Given the description of an element on the screen output the (x, y) to click on. 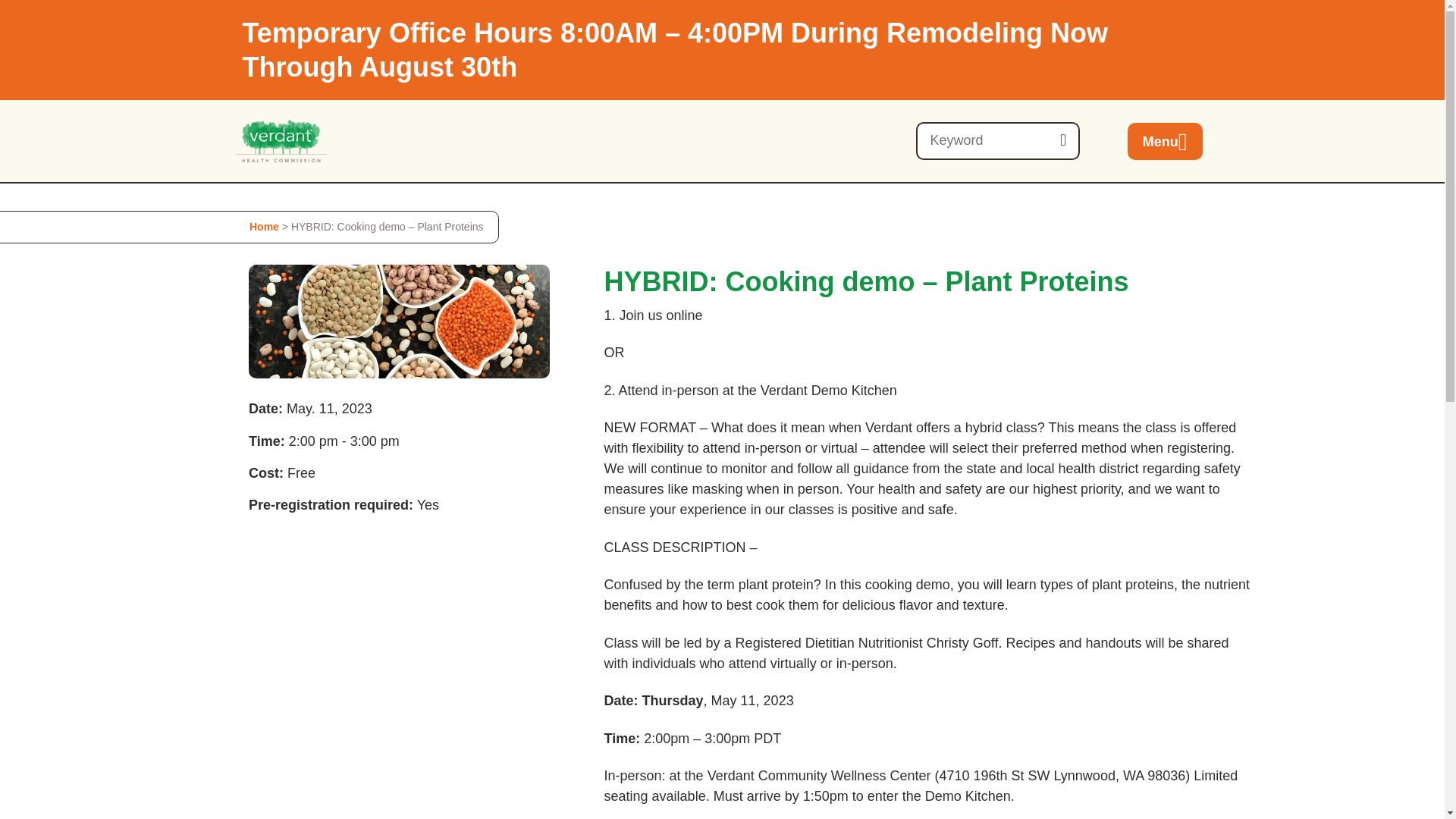
HYBRID: Cooking demo - Plant Proteins 1 (399, 321)
Home (263, 226)
Open mobile menu (1164, 140)
